Given the description of an element on the screen output the (x, y) to click on. 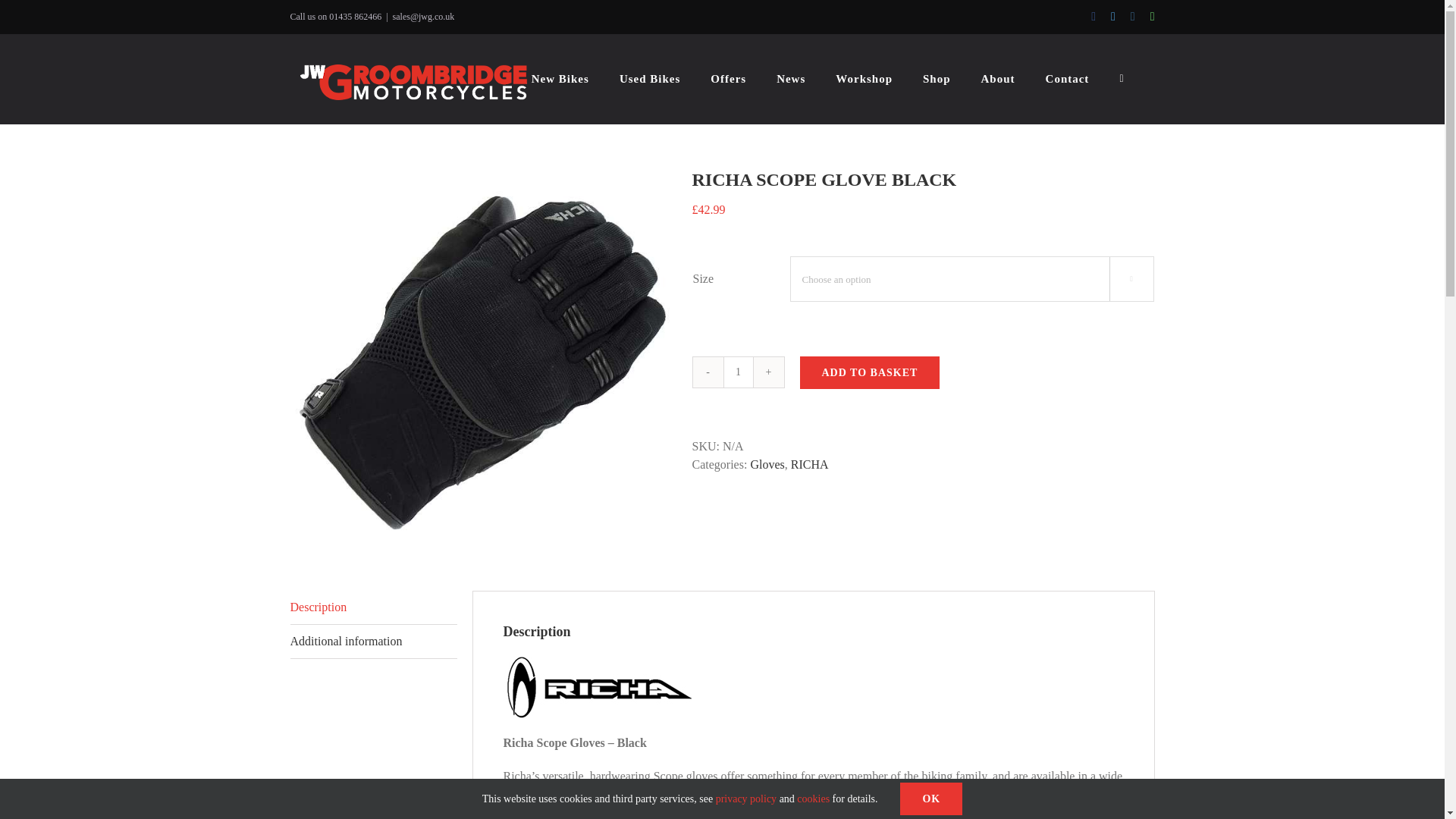
Instagram (1133, 16)
Workshop (863, 78)
News (790, 78)
Twitter (1112, 16)
About (997, 78)
Used Bikes (649, 78)
WhatsApp (1152, 16)
Instagram (1133, 16)
- (708, 372)
WhatsApp (1152, 16)
New Bikes (560, 78)
Contact (1067, 78)
01435 862466 (355, 16)
Facebook (1093, 16)
1 (738, 372)
